Given the description of an element on the screen output the (x, y) to click on. 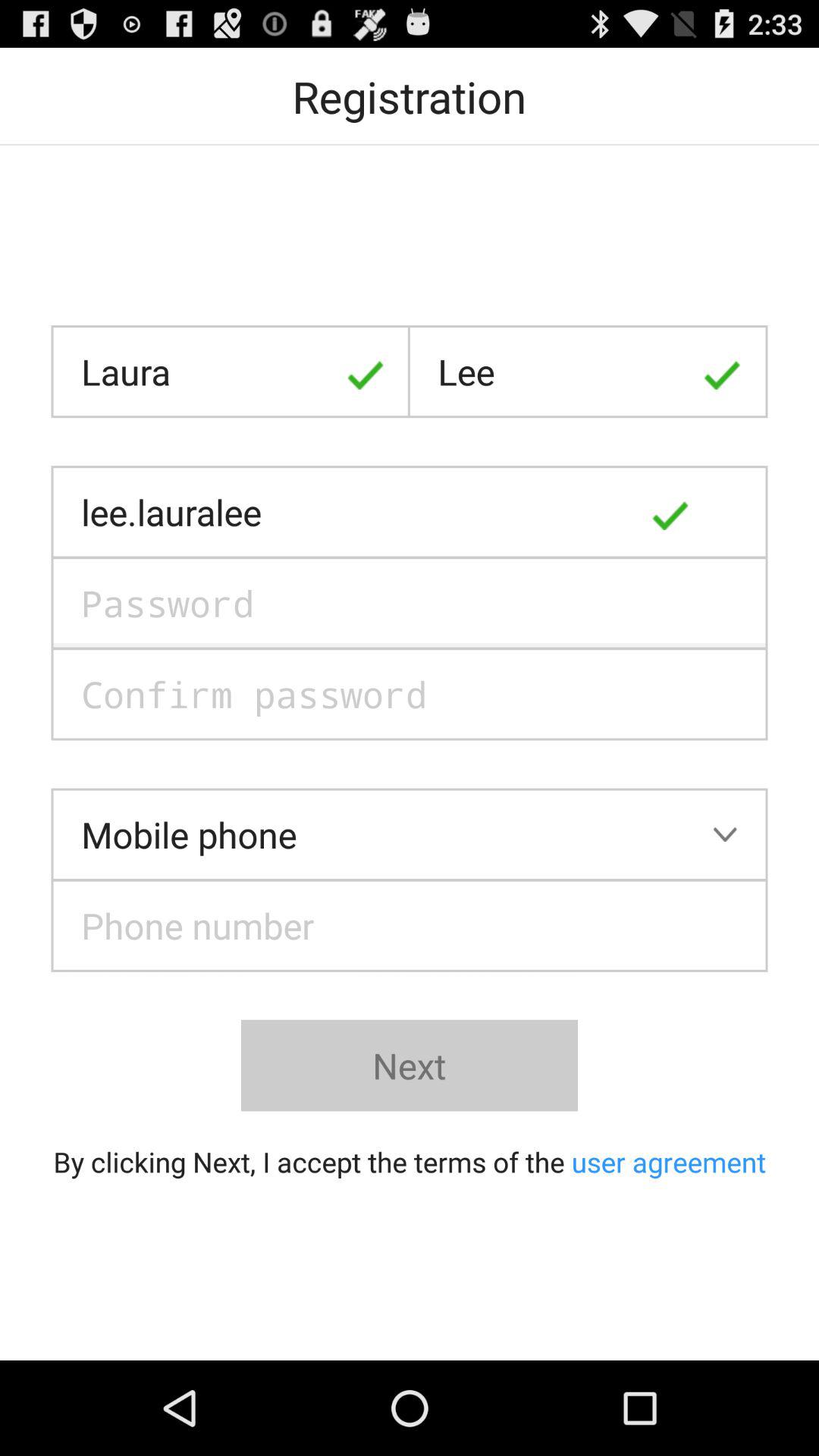
go to the password (409, 602)
